Given the description of an element on the screen output the (x, y) to click on. 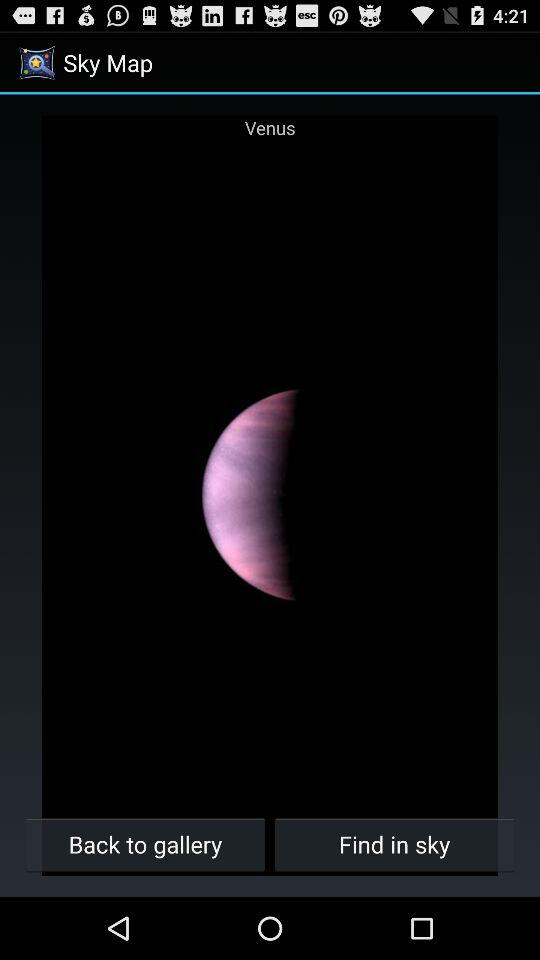
open the icon next to the find in sky button (145, 844)
